Given the description of an element on the screen output the (x, y) to click on. 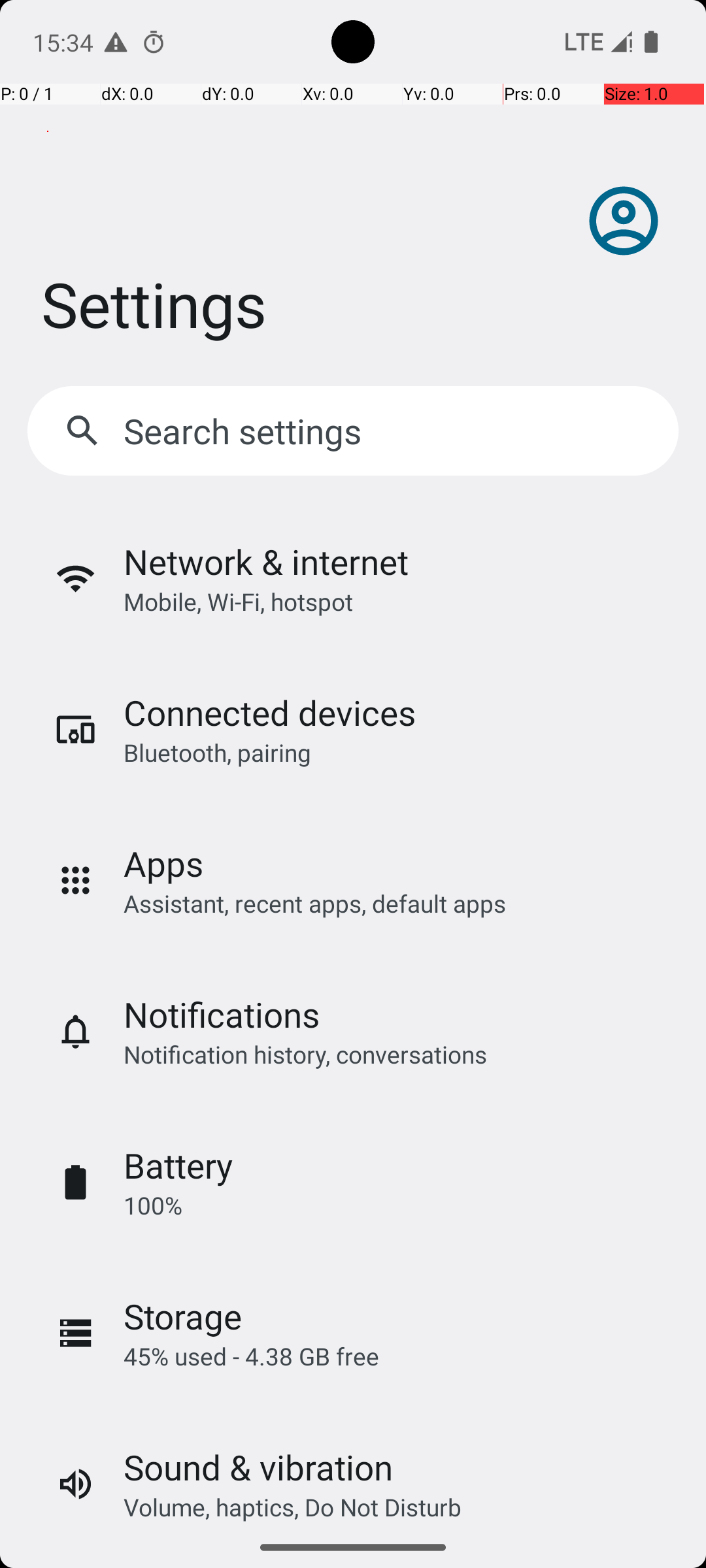
45% used - 4.38 GB free Element type: android.widget.TextView (251, 1355)
